Given the description of an element on the screen output the (x, y) to click on. 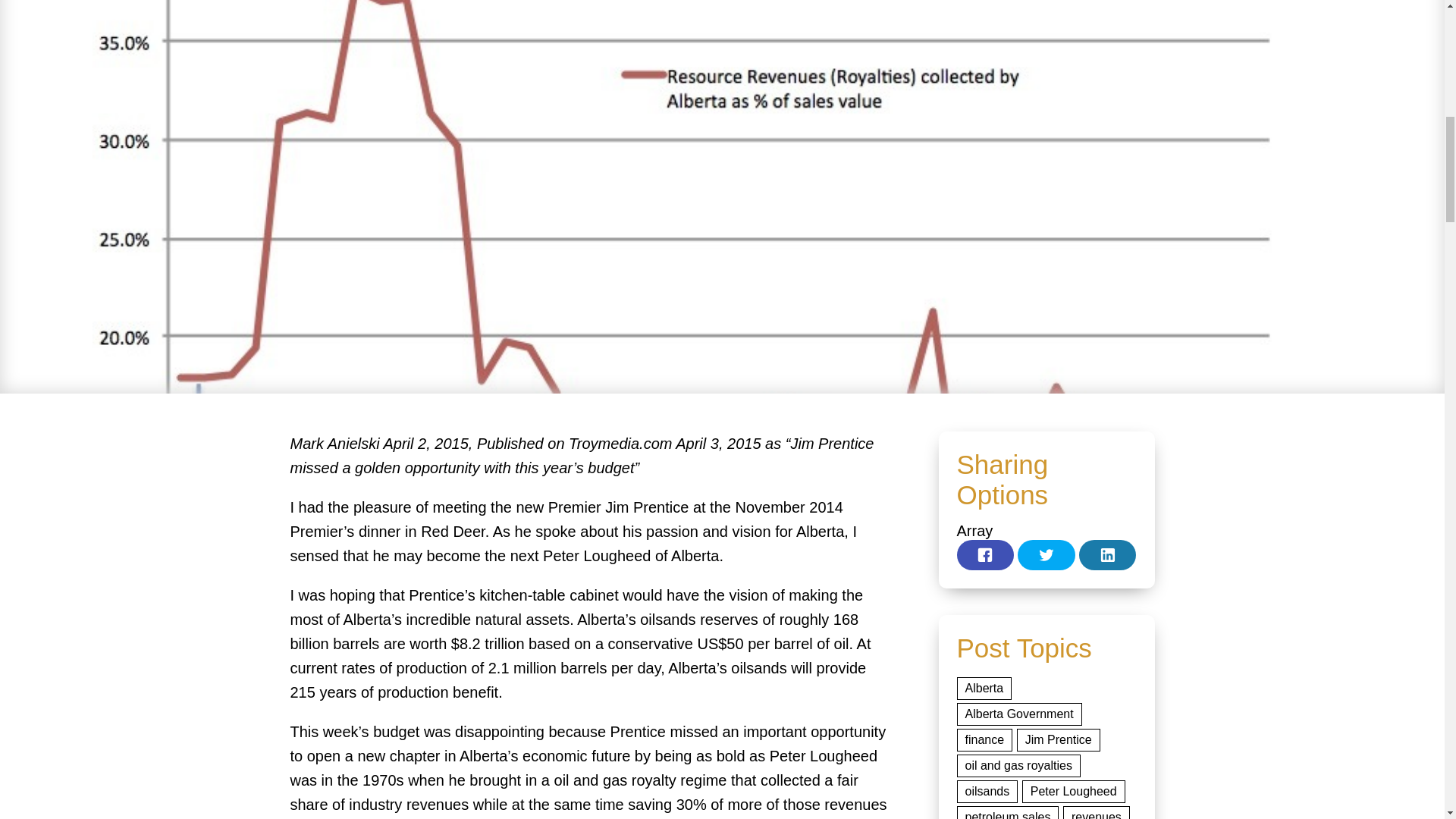
Share on Facebook! (985, 554)
Alberta (983, 688)
Alberta Government (1018, 713)
Jim Prentice (1058, 739)
Share on LinkedIn! (1107, 554)
oilsands (986, 791)
finance (984, 739)
Share on Twitter! (1046, 554)
oil and gas royalties (1018, 765)
